Given the description of an element on the screen output the (x, y) to click on. 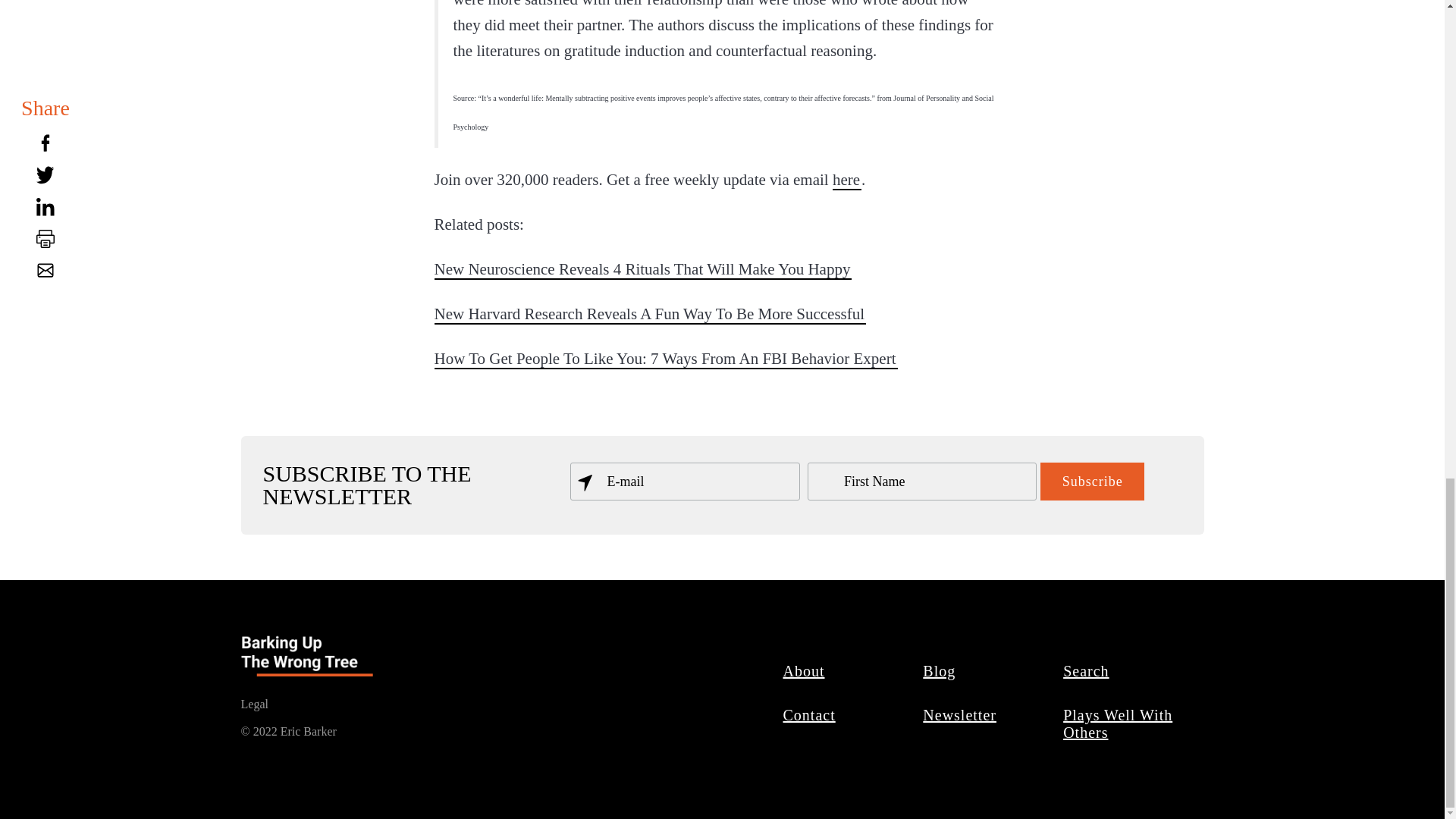
New Neuroscience Reveals 4 Rituals That Will Make You Happy (642, 269)
Subscribe (1092, 481)
Search (1085, 669)
here (846, 179)
Contact (809, 714)
Blog (939, 669)
New Harvard Research Reveals A Fun Way To Be More Successful (649, 313)
Subscribe (1092, 481)
Newsletter (960, 714)
About (804, 669)
Legal (255, 703)
Plays Well With Others (1117, 723)
